Given the description of an element on the screen output the (x, y) to click on. 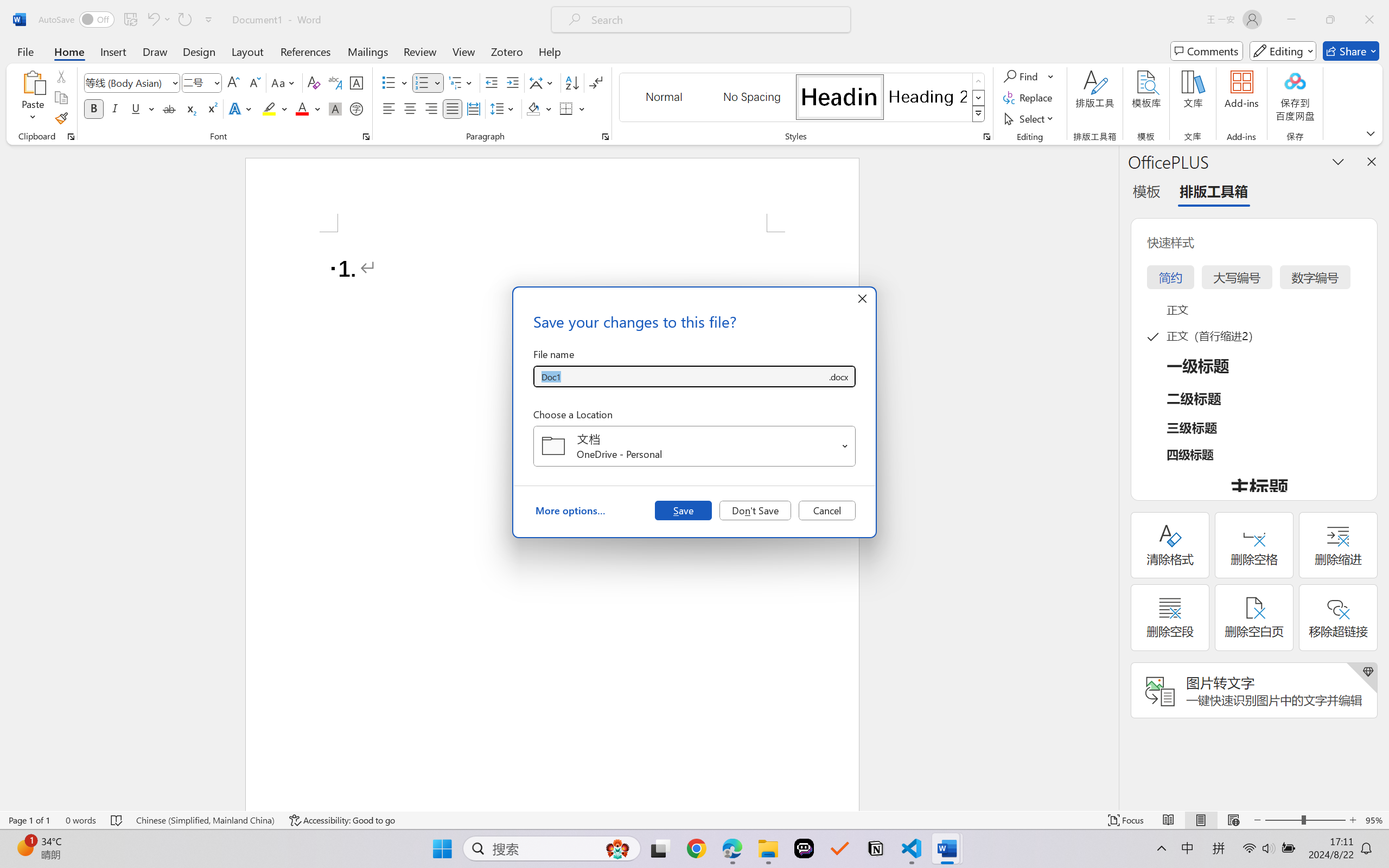
Undo Number Default (158, 19)
